Given the description of an element on the screen output the (x, y) to click on. 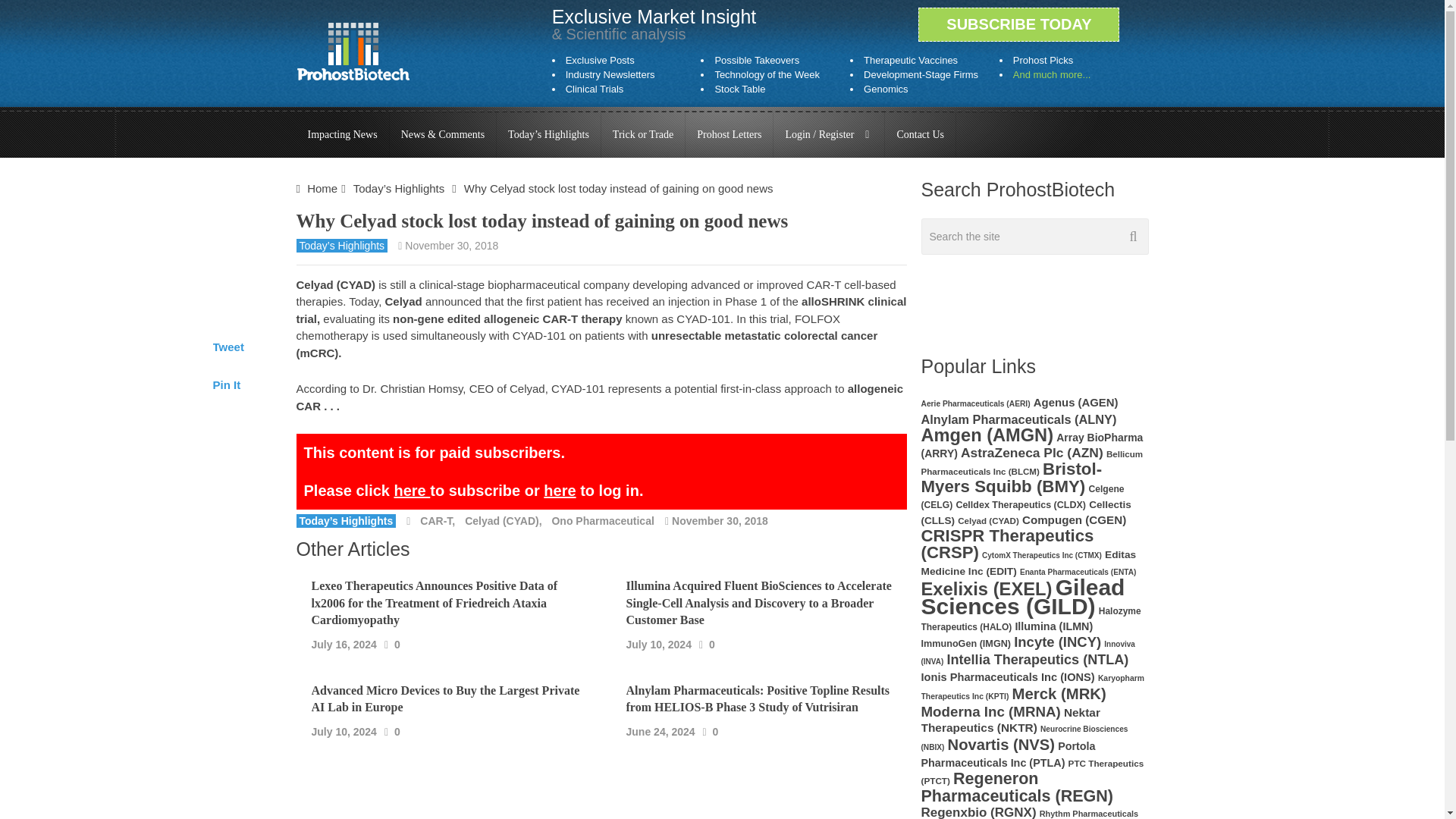
Prohost Letters (729, 135)
0 (397, 643)
here (411, 490)
Home (322, 187)
Tweet (227, 346)
here (559, 490)
